Given the description of an element on the screen output the (x, y) to click on. 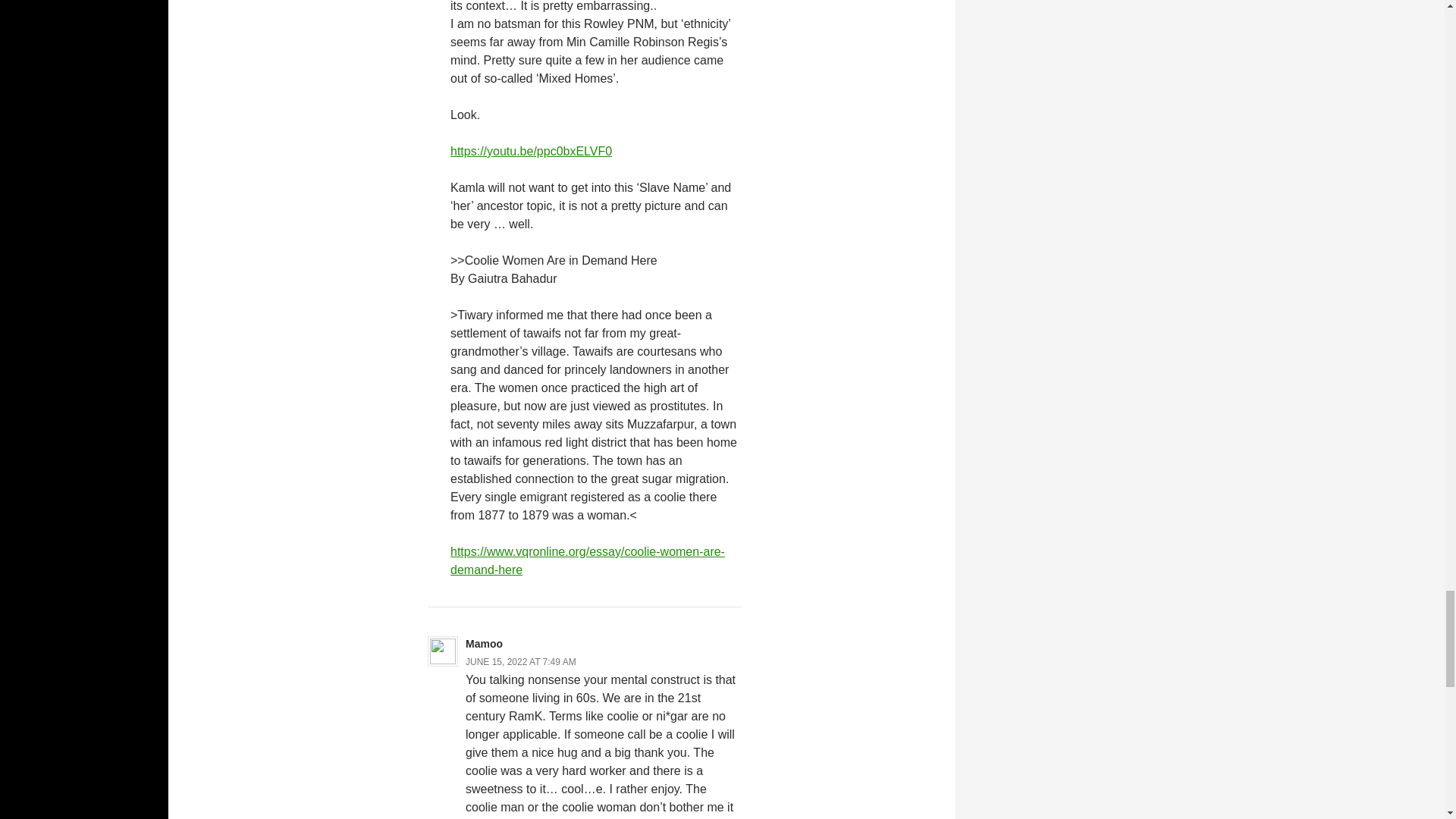
JUNE 15, 2022 AT 7:49 AM (520, 661)
